Given the description of an element on the screen output the (x, y) to click on. 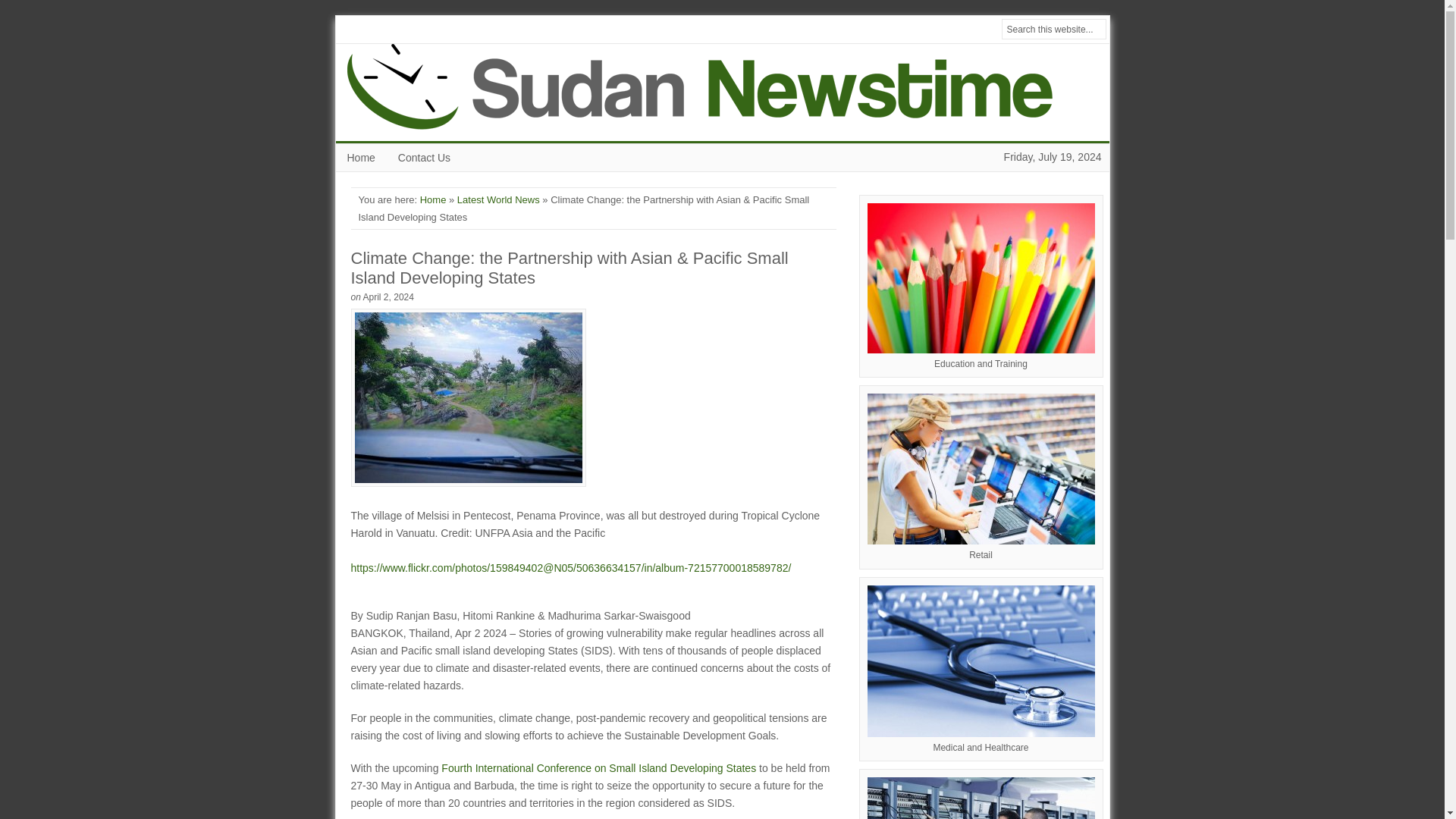
Home (359, 157)
Sudan Newstime (713, 92)
Sudan Newstime (713, 92)
Home (433, 199)
View Home (433, 199)
Contact Us (424, 157)
Home (359, 157)
Latest World News (498, 199)
View all items in Latest World News (498, 199)
Search this website... (1053, 28)
